Given the description of an element on the screen output the (x, y) to click on. 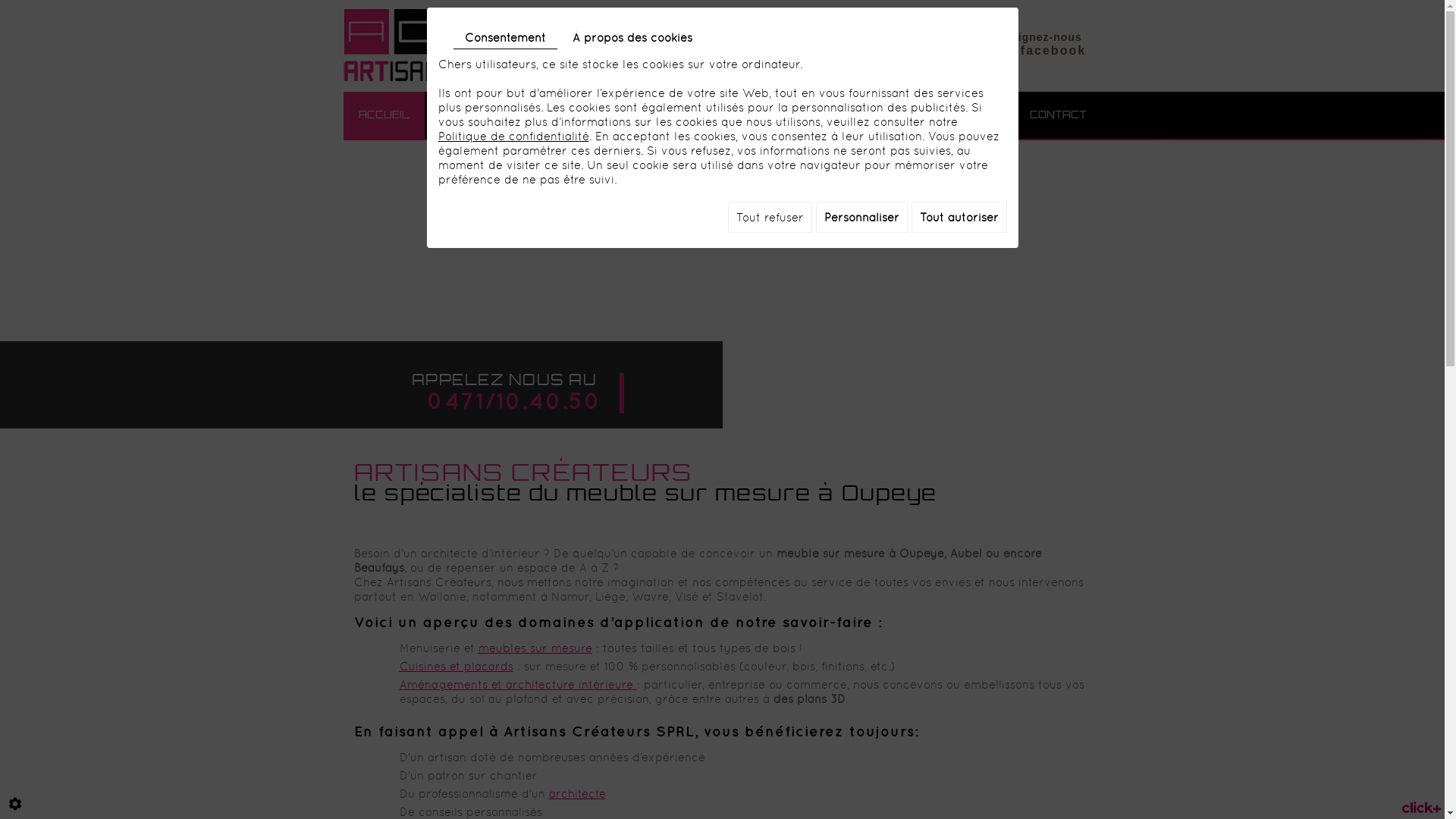
CONTACT Element type: text (1057, 109)
ACCUEIL Element type: text (382, 109)
CUISINES / PLACARDS Element type: text (681, 109)
ARCHITECTE Element type: text (962, 109)
Tout autoriser Element type: text (959, 216)
fb
Rejoignez-nous
sur facebook Element type: text (1025, 37)
architecte Element type: text (577, 793)
Personnaliser Element type: text (861, 216)
Tout refuser Element type: text (770, 216)
Consentement Element type: text (505, 37)
0471/10.40.50 Element type: text (520, 400)
meubles sur mesure Element type: text (534, 647)
Cuisines et placards Element type: text (455, 665)
